Given the description of an element on the screen output the (x, y) to click on. 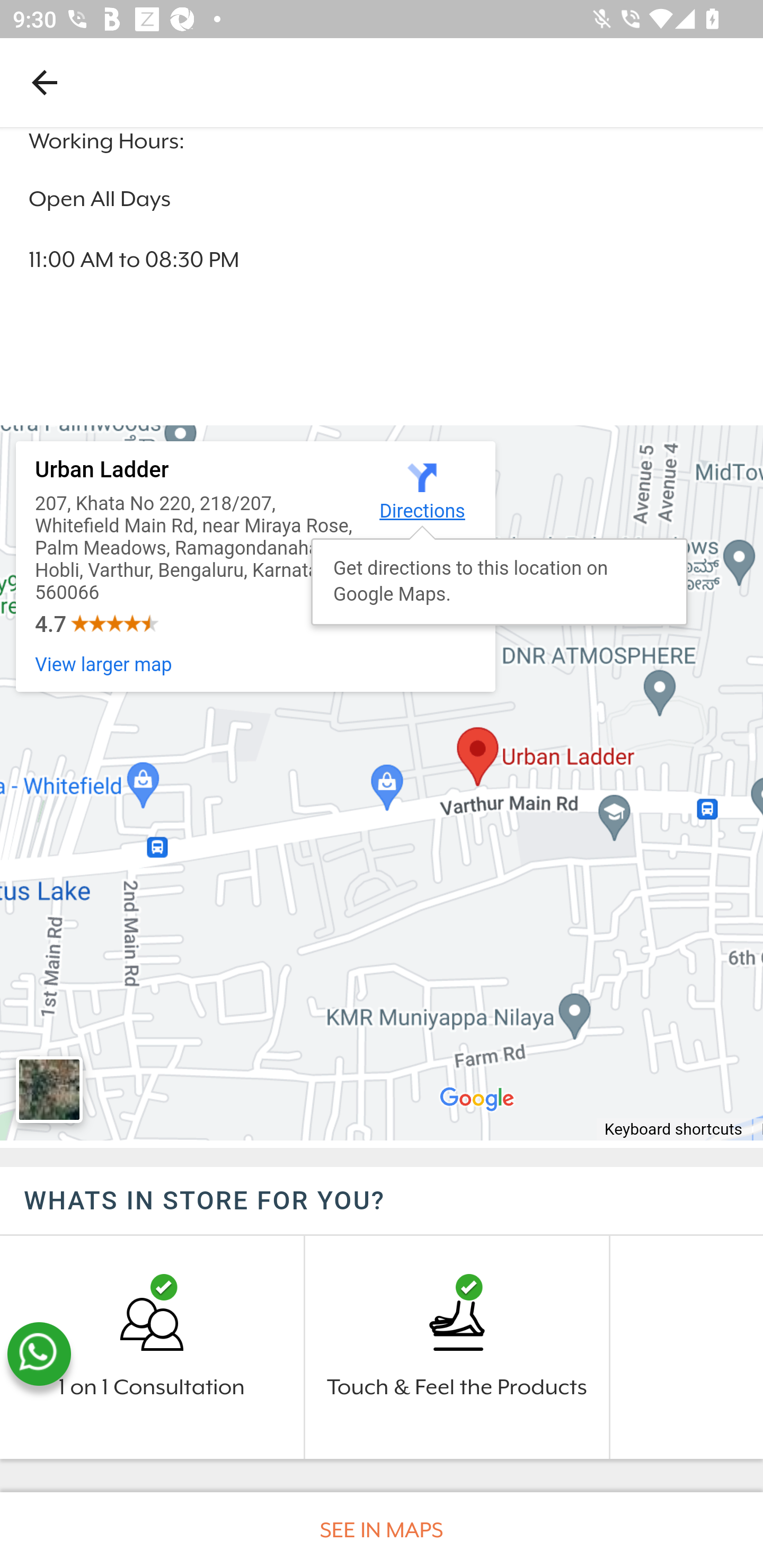
Navigate up (44, 82)
Keyboard shortcuts (381, 782)
View larger map (104, 665)
Show satellite imagery (49, 1090)
Keyboard shortcuts (673, 1131)
whatsapp (38, 1354)
SEE IN MAPS (381, 1530)
